Given the description of an element on the screen output the (x, y) to click on. 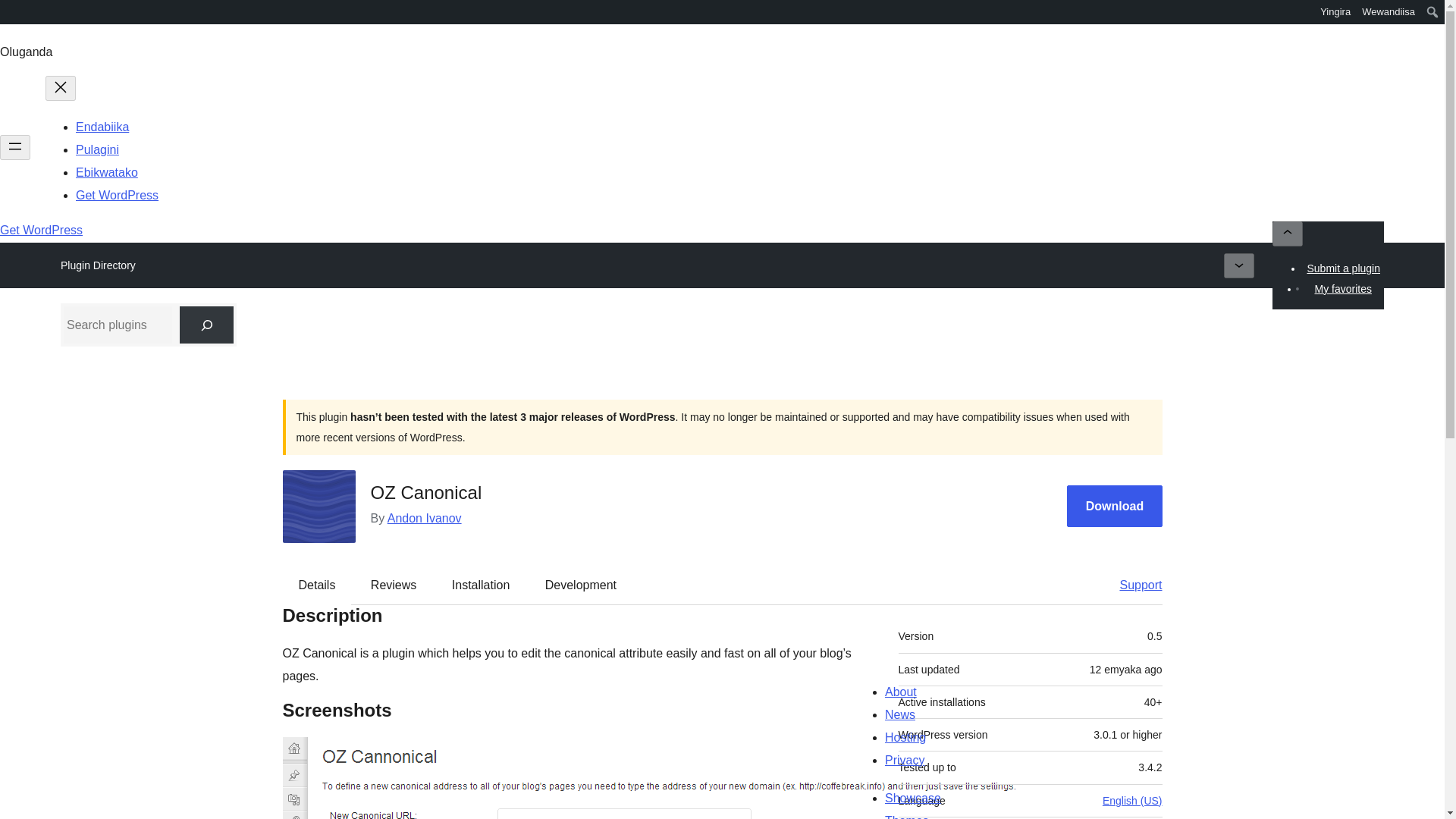
Ebikwatako (106, 172)
Wewandiisa (1388, 12)
WordPress.org (10, 16)
Pulagini (97, 149)
Development (580, 585)
Endabiika (102, 126)
My favorites (1342, 288)
Reviews (392, 585)
Submit a plugin (1343, 268)
Andon Ivanov (424, 517)
Get WordPress (41, 229)
Details (316, 585)
Download (1114, 506)
Installation (480, 585)
Support (1132, 585)
